Given the description of an element on the screen output the (x, y) to click on. 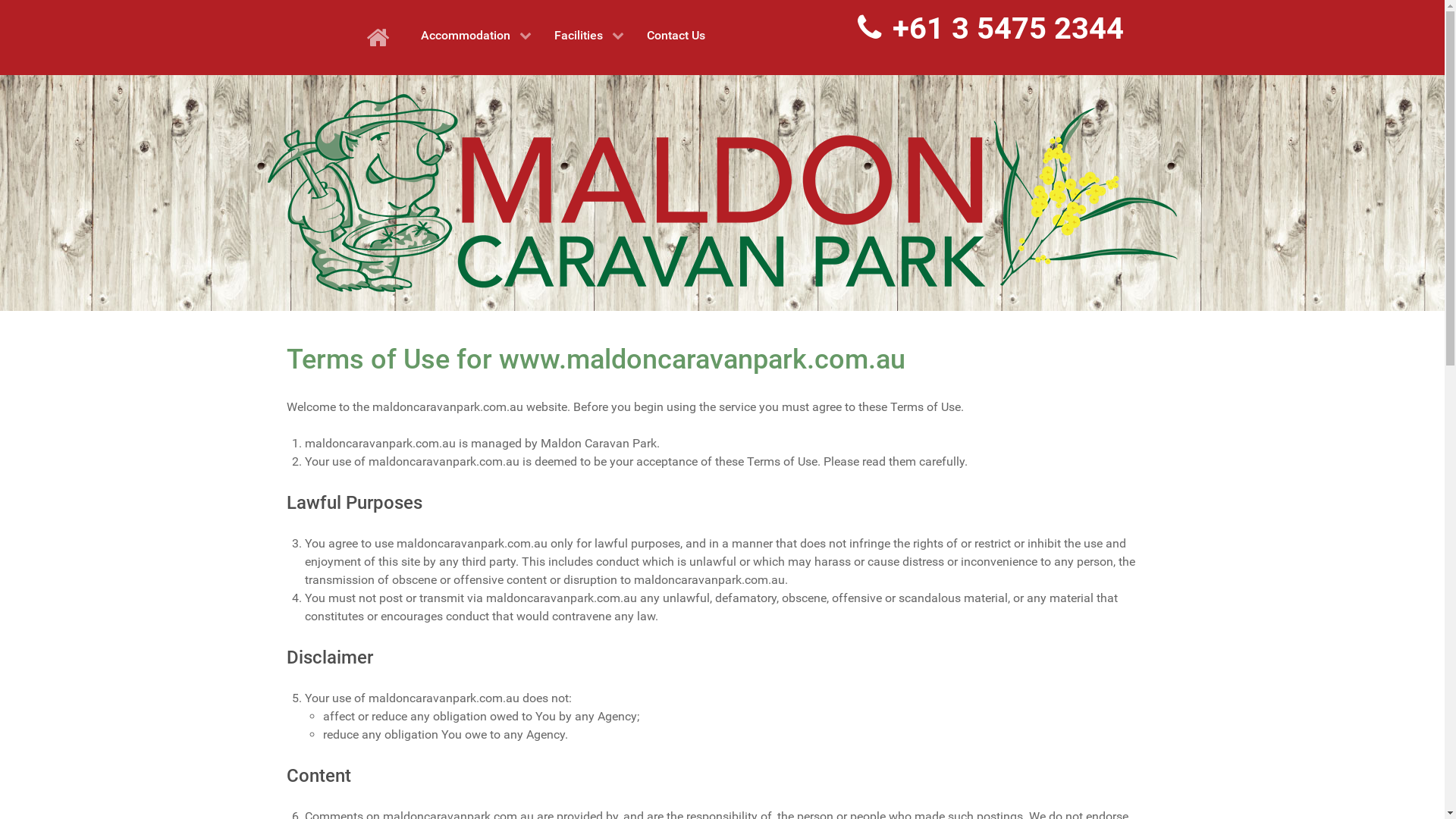
Facilities Element type: text (588, 34)
+61 3 5475 2344 Element type: text (990, 28)
Contact Us Element type: text (675, 34)
Home Element type: hover (381, 37)
Accommodation Element type: text (475, 34)
